Given the description of an element on the screen output the (x, y) to click on. 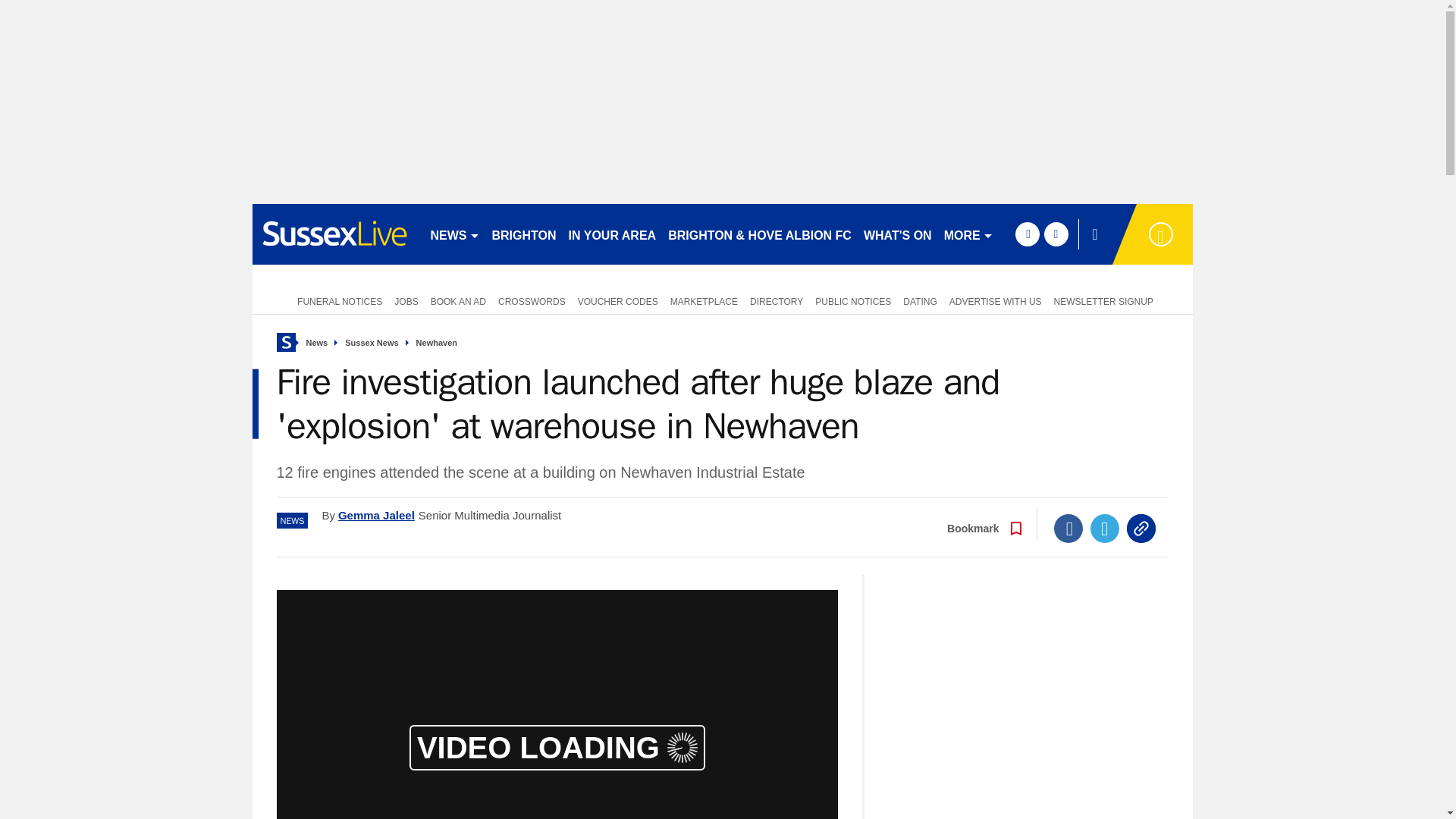
Twitter (1104, 528)
VOUCHER CODES (617, 300)
NEWS (455, 233)
twitter (1055, 233)
facebook (1026, 233)
BRIGHTON (523, 233)
CROSSWORDS (532, 300)
WHAT'S ON (897, 233)
FUNERAL NOTICES (336, 300)
DIRECTORY (776, 300)
